Given the description of an element on the screen output the (x, y) to click on. 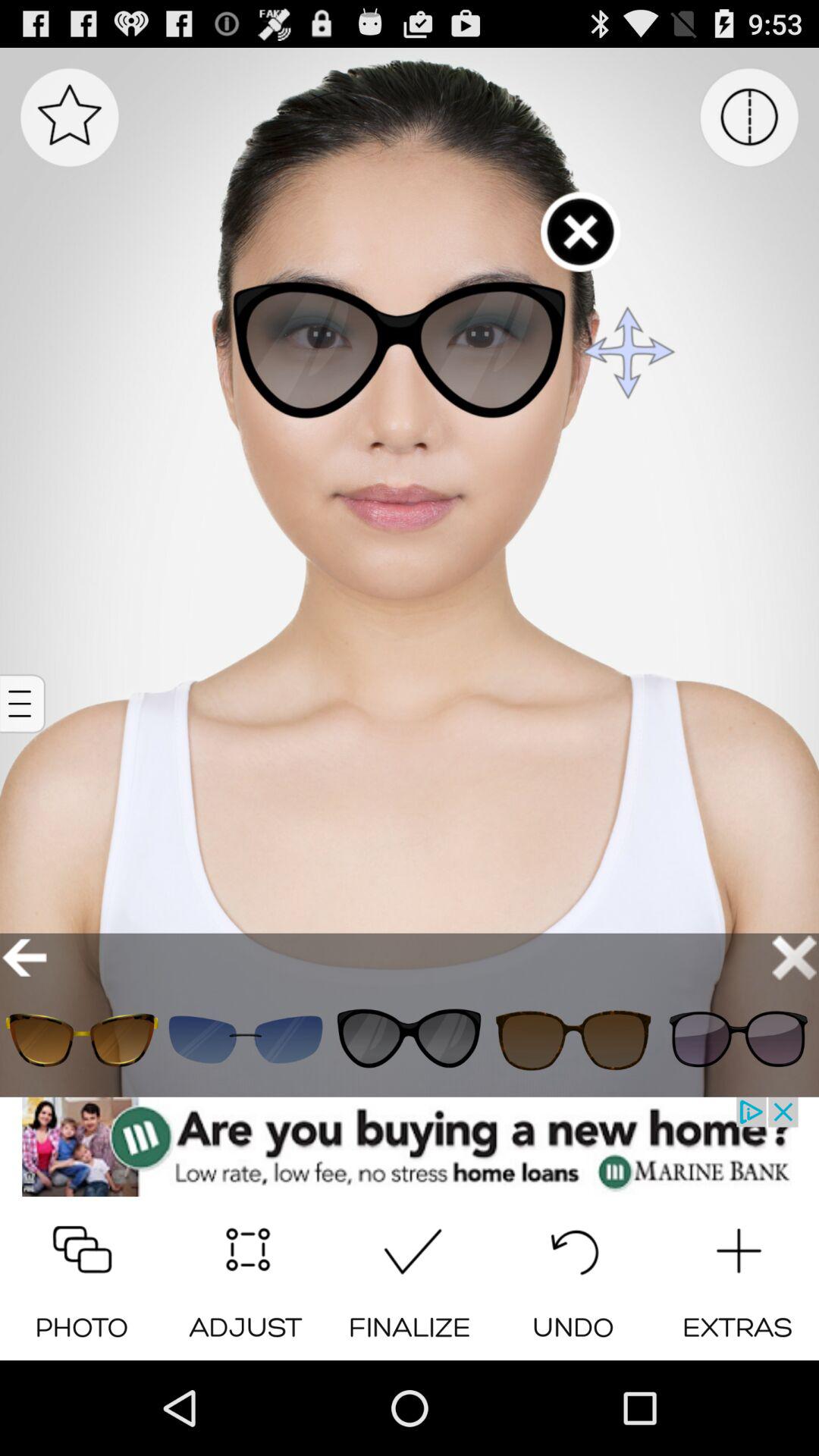
see this style on the model (81, 1039)
